Given the description of an element on the screen output the (x, y) to click on. 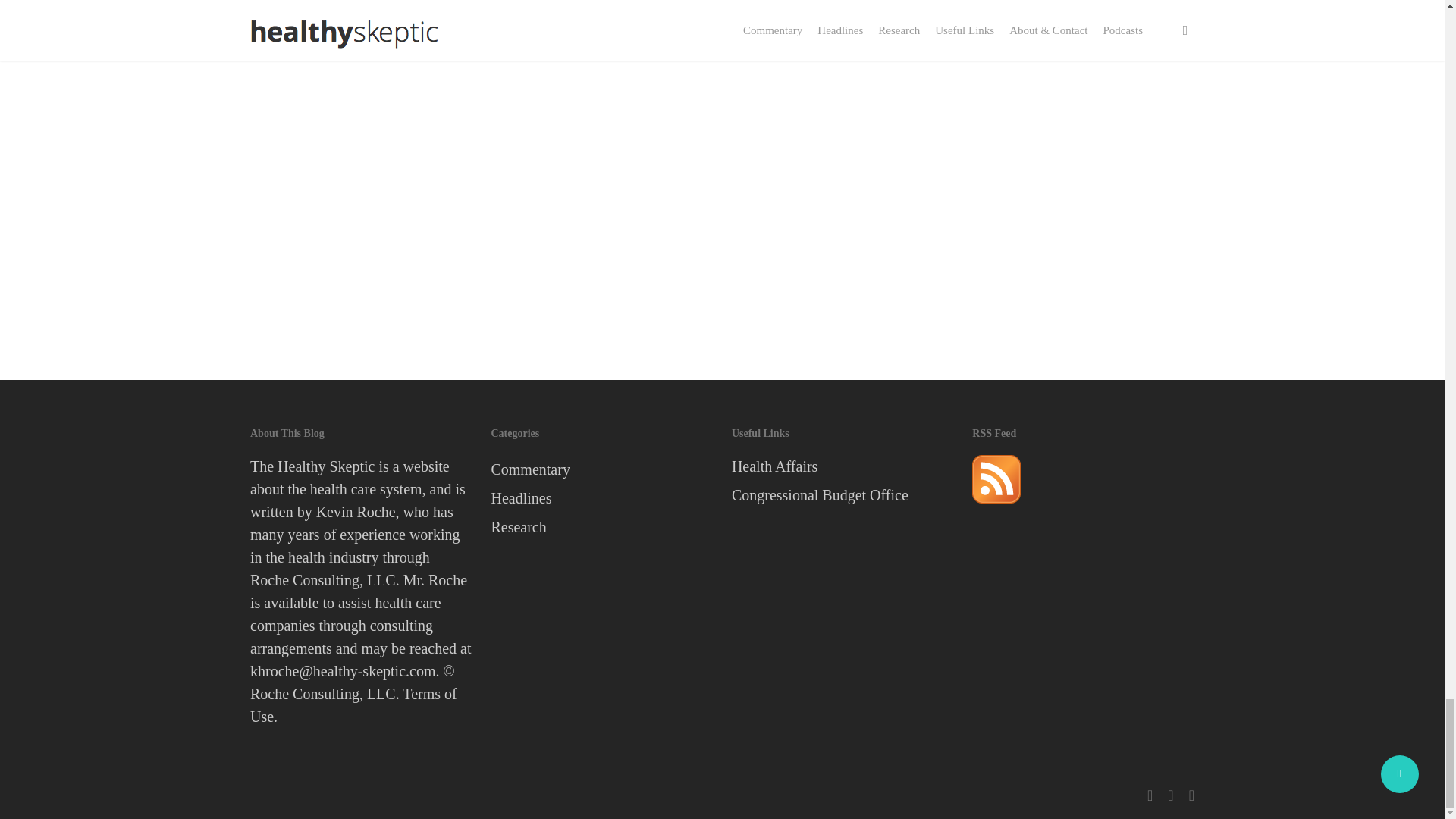
Subscribe to posts (996, 509)
